Given the description of an element on the screen output the (x, y) to click on. 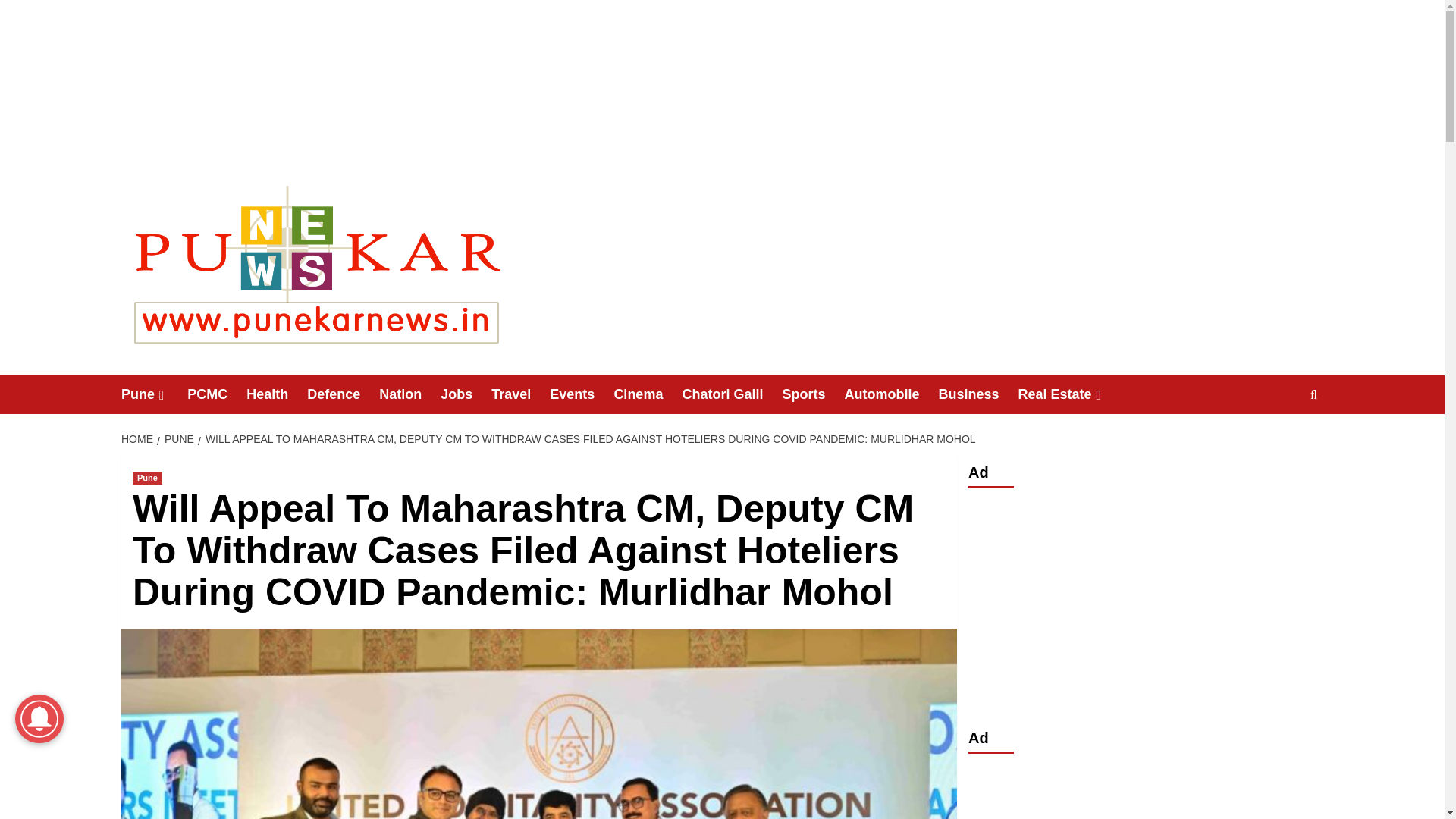
Cinema (646, 394)
Defence (342, 394)
Search (1278, 441)
Sports (812, 394)
Events (581, 394)
Automobile (890, 394)
Chatori Galli (731, 394)
PCMC (216, 394)
Advertisement (1145, 791)
Real Estate (1070, 394)
Pune (146, 477)
Nation (409, 394)
Jobs (466, 394)
PUNE (177, 439)
